Given the description of an element on the screen output the (x, y) to click on. 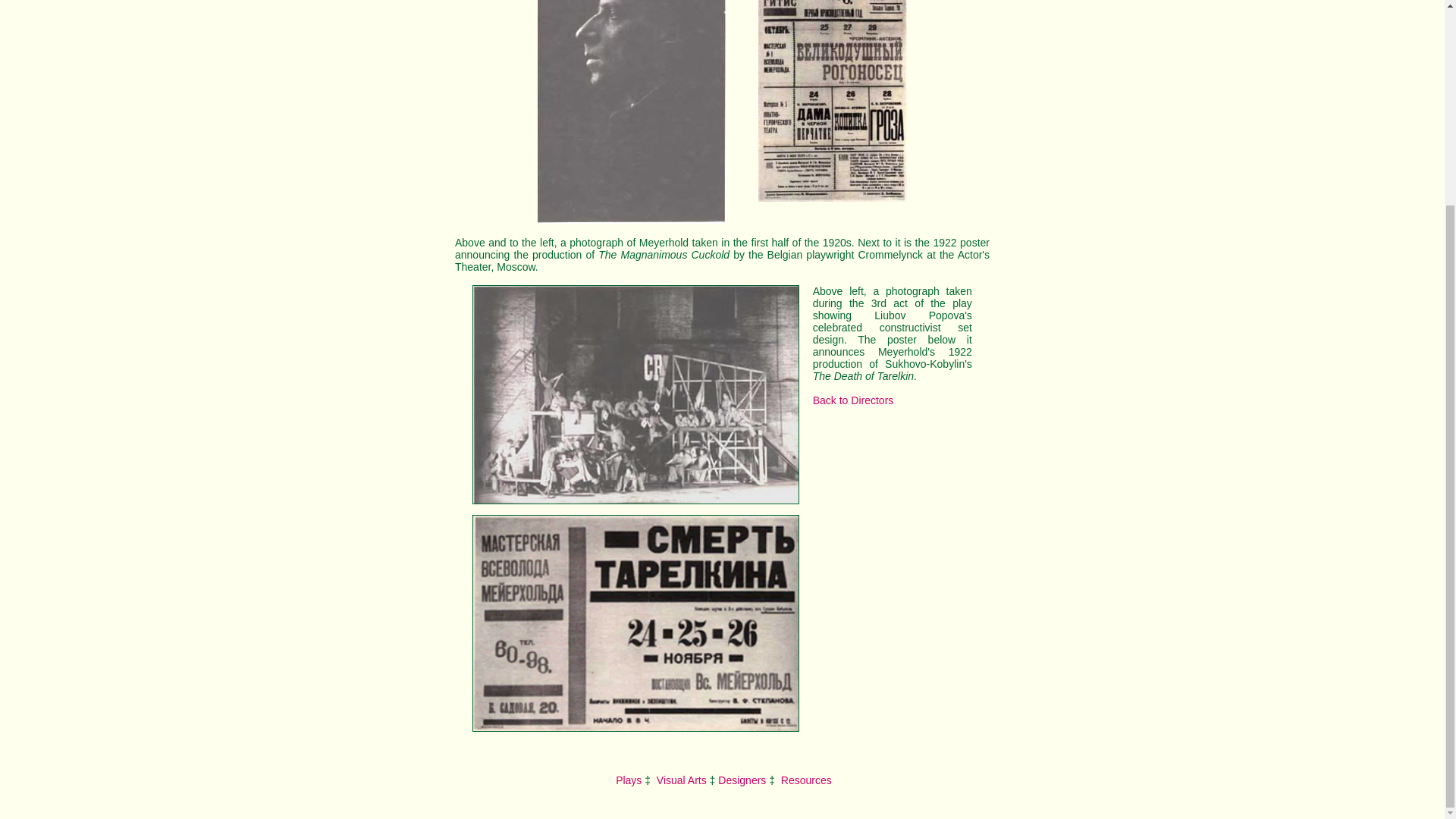
Back to Directors (852, 399)
 Plays (627, 779)
Resources (805, 779)
Visual Arts (681, 779)
Designers (741, 779)
